Given the description of an element on the screen output the (x, y) to click on. 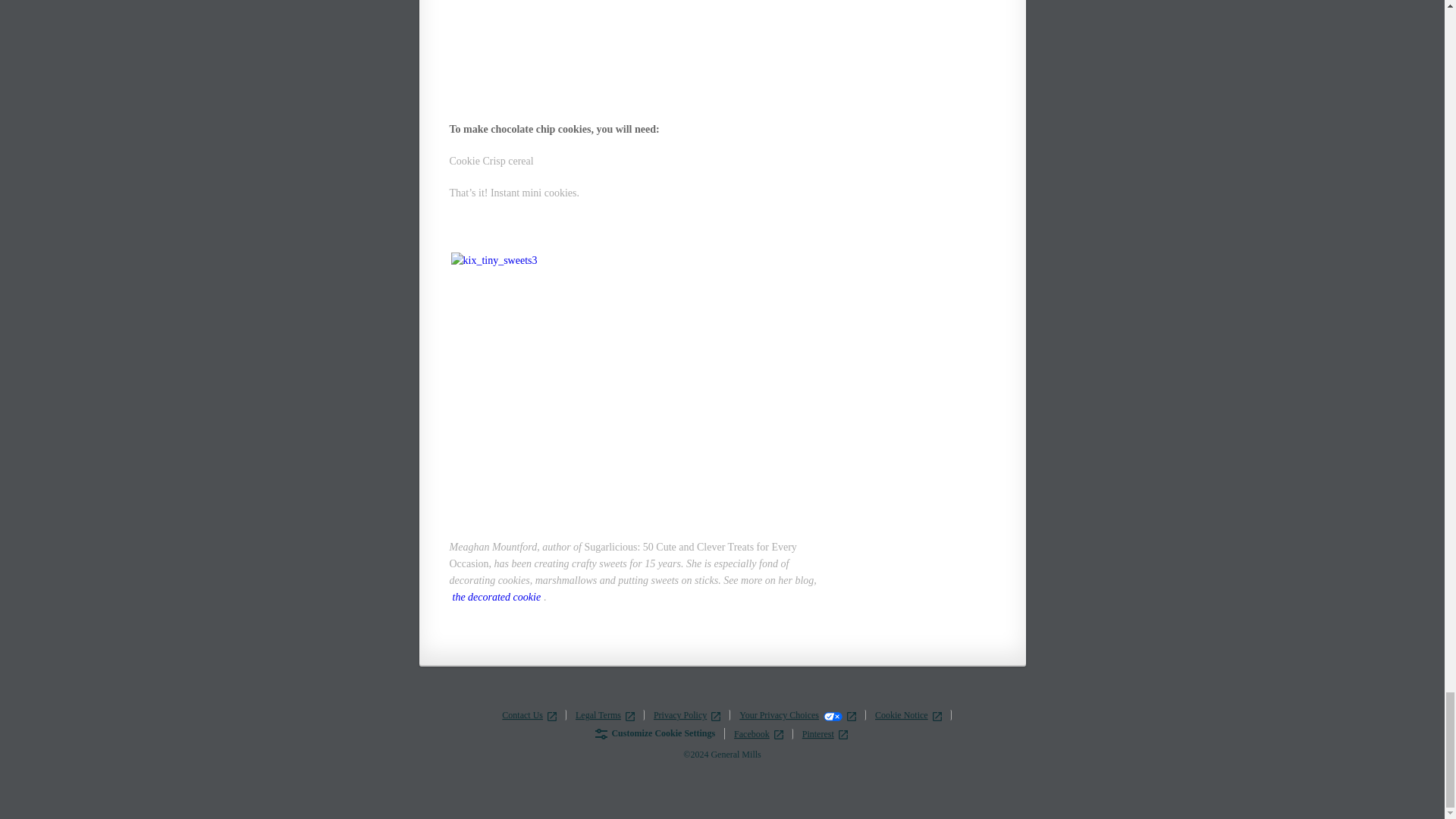
the decorated cookie (495, 596)
California Consumer Privacy Act Opt-Out (833, 716)
